Given the description of an element on the screen output the (x, y) to click on. 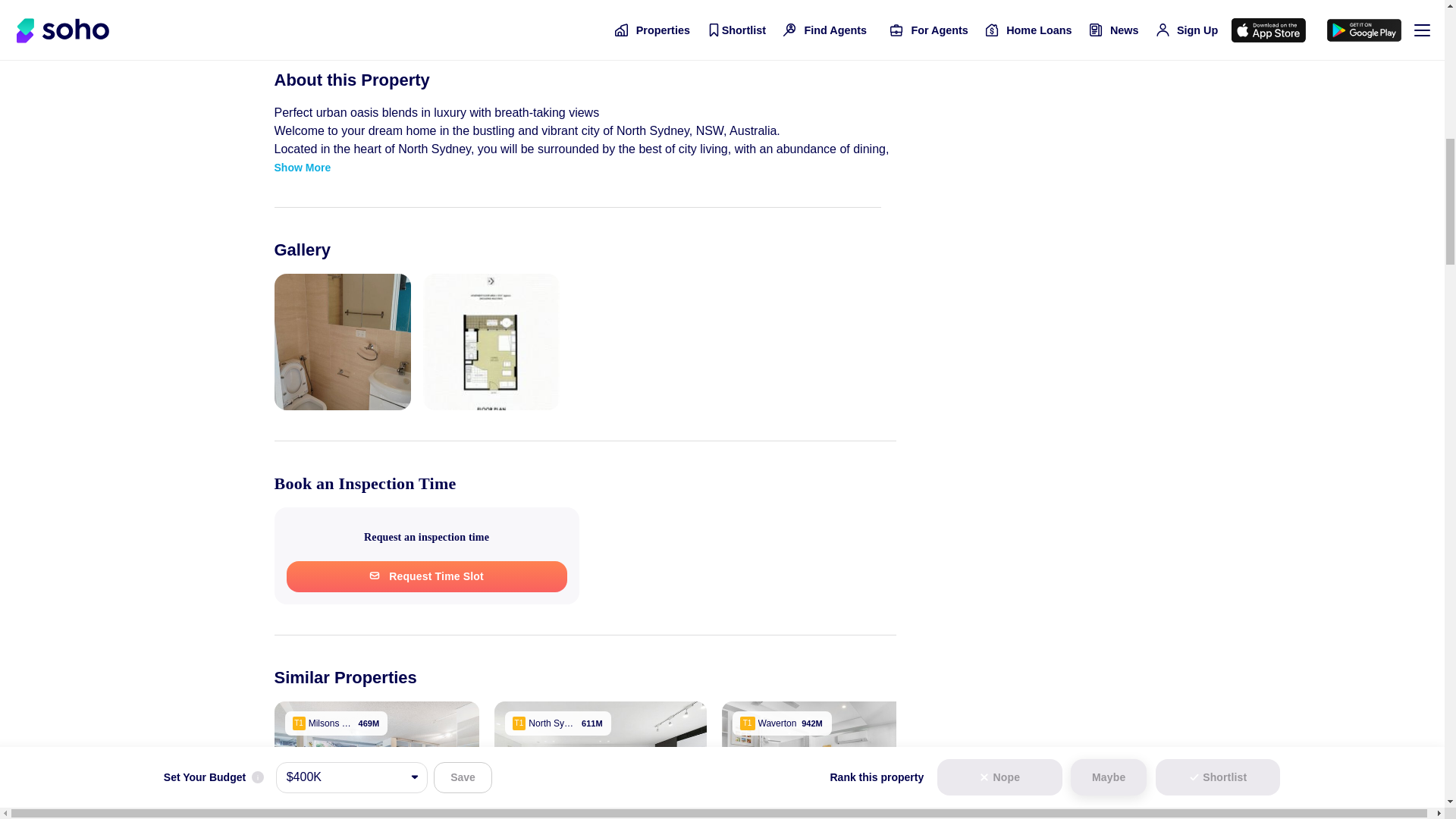
North Sydney (558, 723)
Waverton (782, 723)
Milsons Point (336, 723)
